Given the description of an element on the screen output the (x, y) to click on. 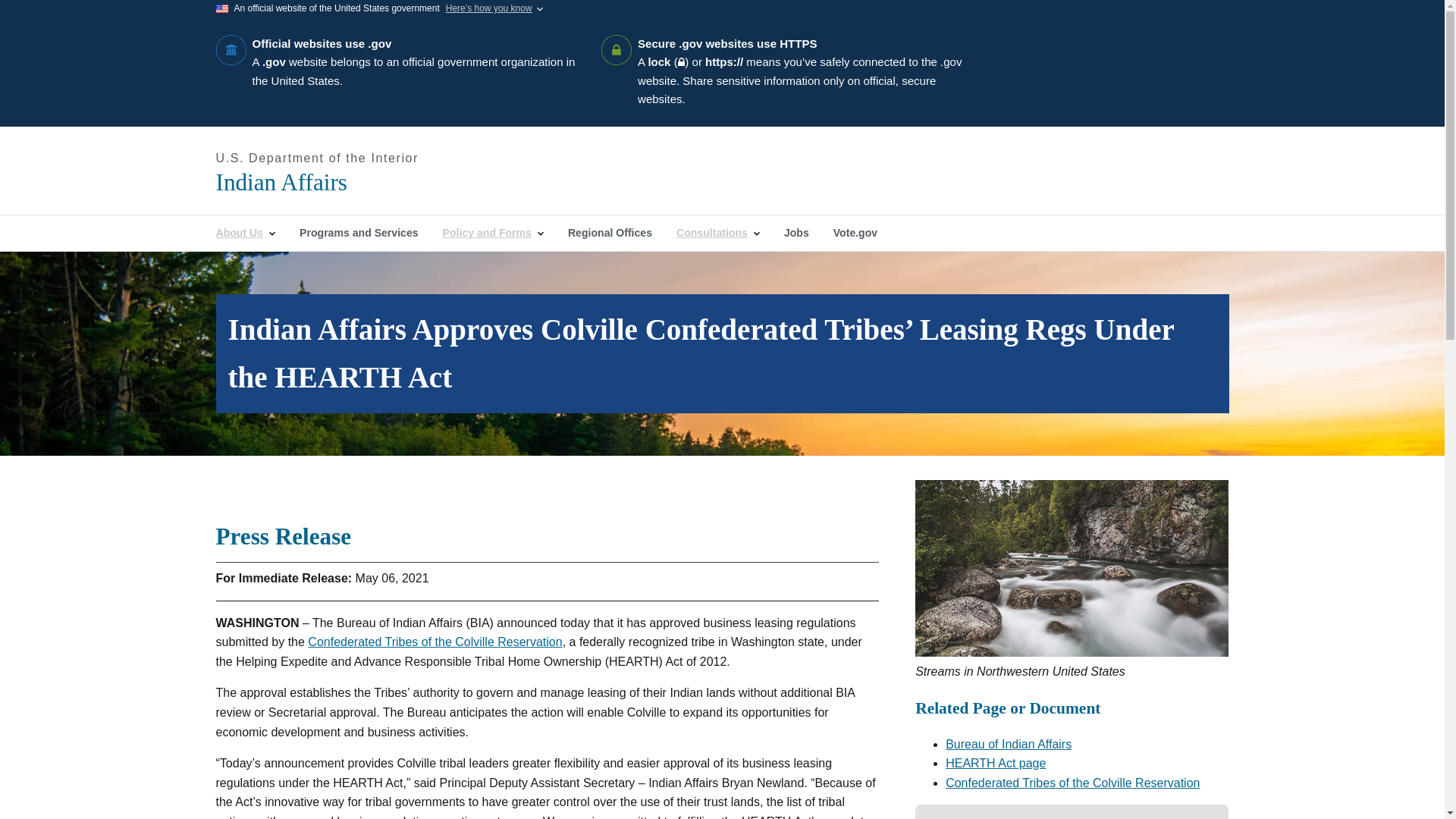
Regional Offices (609, 232)
Indian Affairs (382, 182)
Streams in Northwestern United States (1071, 567)
Programs and Services (358, 232)
Confederated Tribes of the Colville Reservation (1071, 782)
Vote.gov (855, 232)
Policy and Forms (493, 232)
Home (382, 182)
About Us (244, 232)
